Given the description of an element on the screen output the (x, y) to click on. 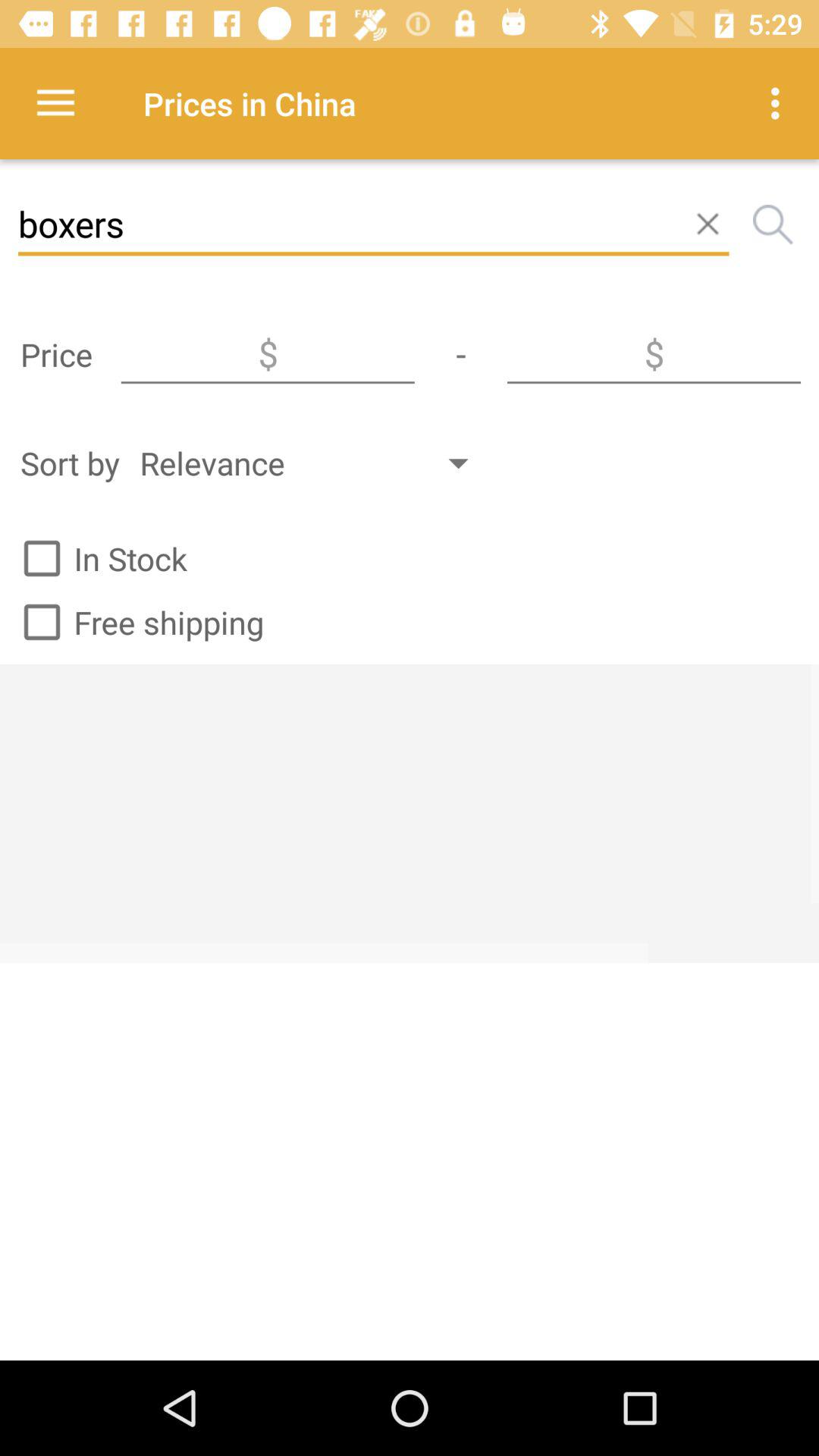
type in minimum price (267, 354)
